Given the description of an element on the screen output the (x, y) to click on. 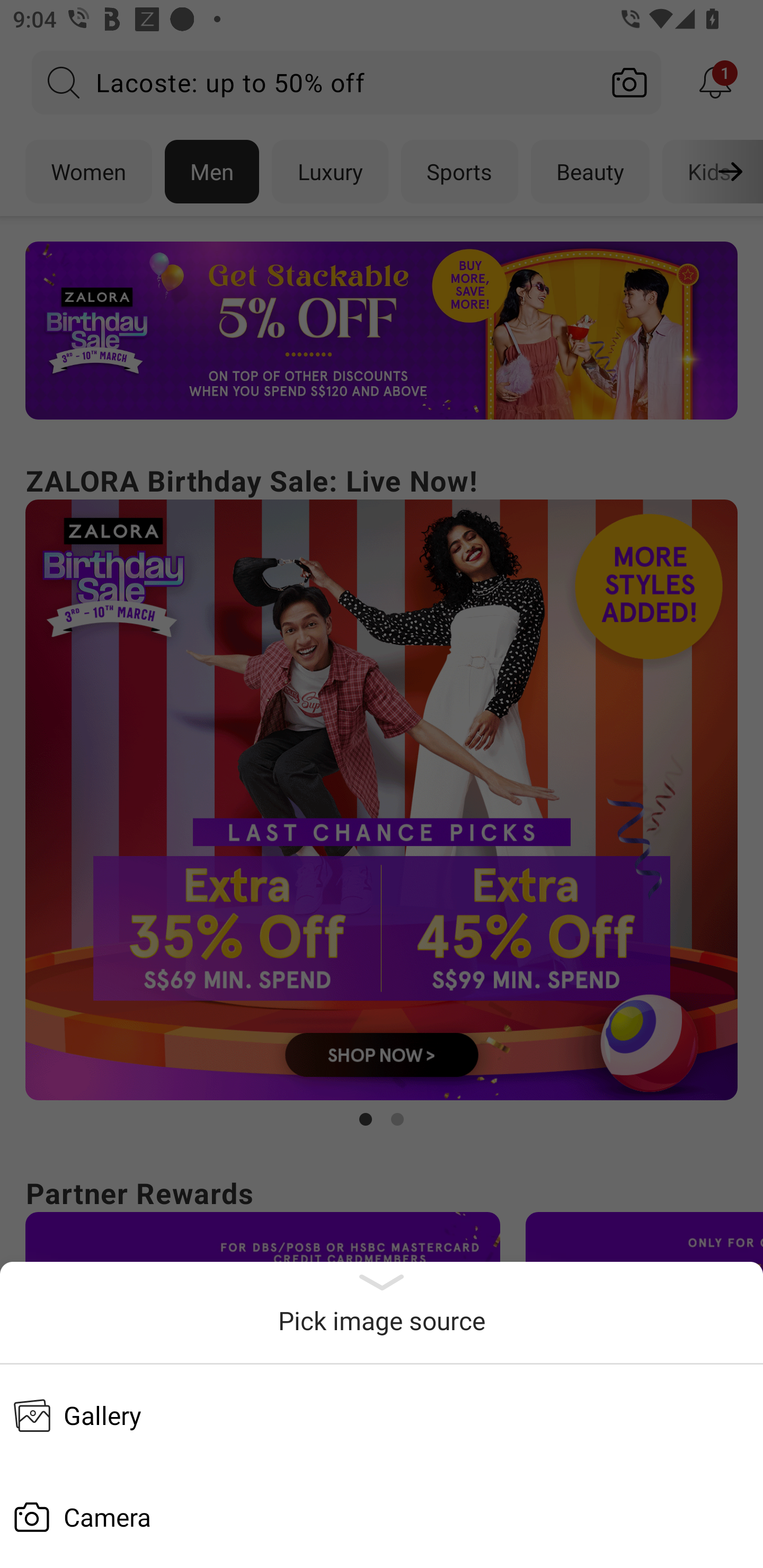
Gallery (381, 1415)
Camera (381, 1517)
